Given the description of an element on the screen output the (x, y) to click on. 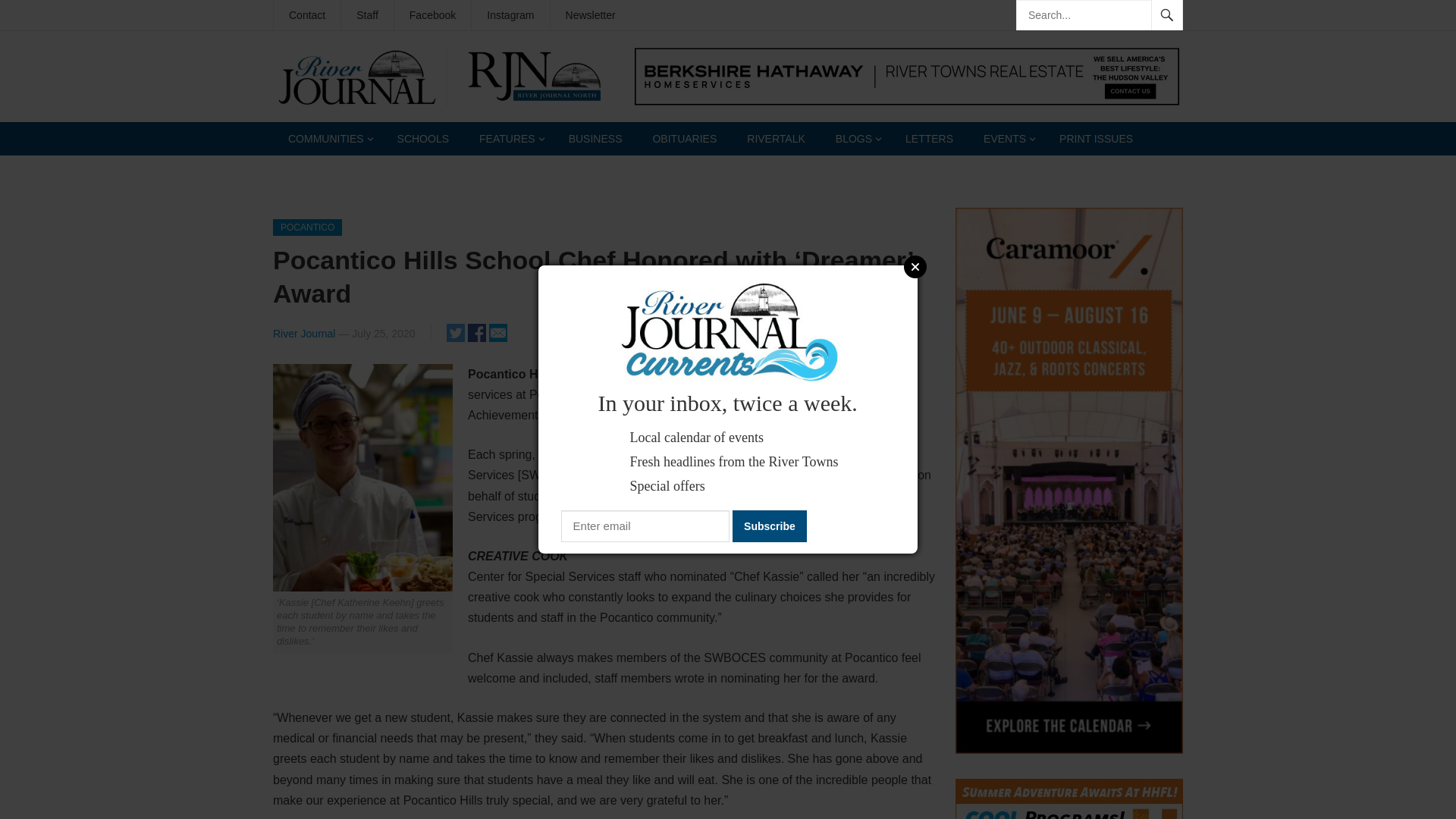
RIVERTALK (776, 138)
Contact (306, 15)
FEATURES (508, 138)
Newsletter (590, 15)
BUSINESS (595, 138)
Subscribe (769, 526)
Facebook (432, 15)
View all posts in Pocantico (307, 227)
Instagram (509, 15)
OBITUARIES (684, 138)
